Given the description of an element on the screen output the (x, y) to click on. 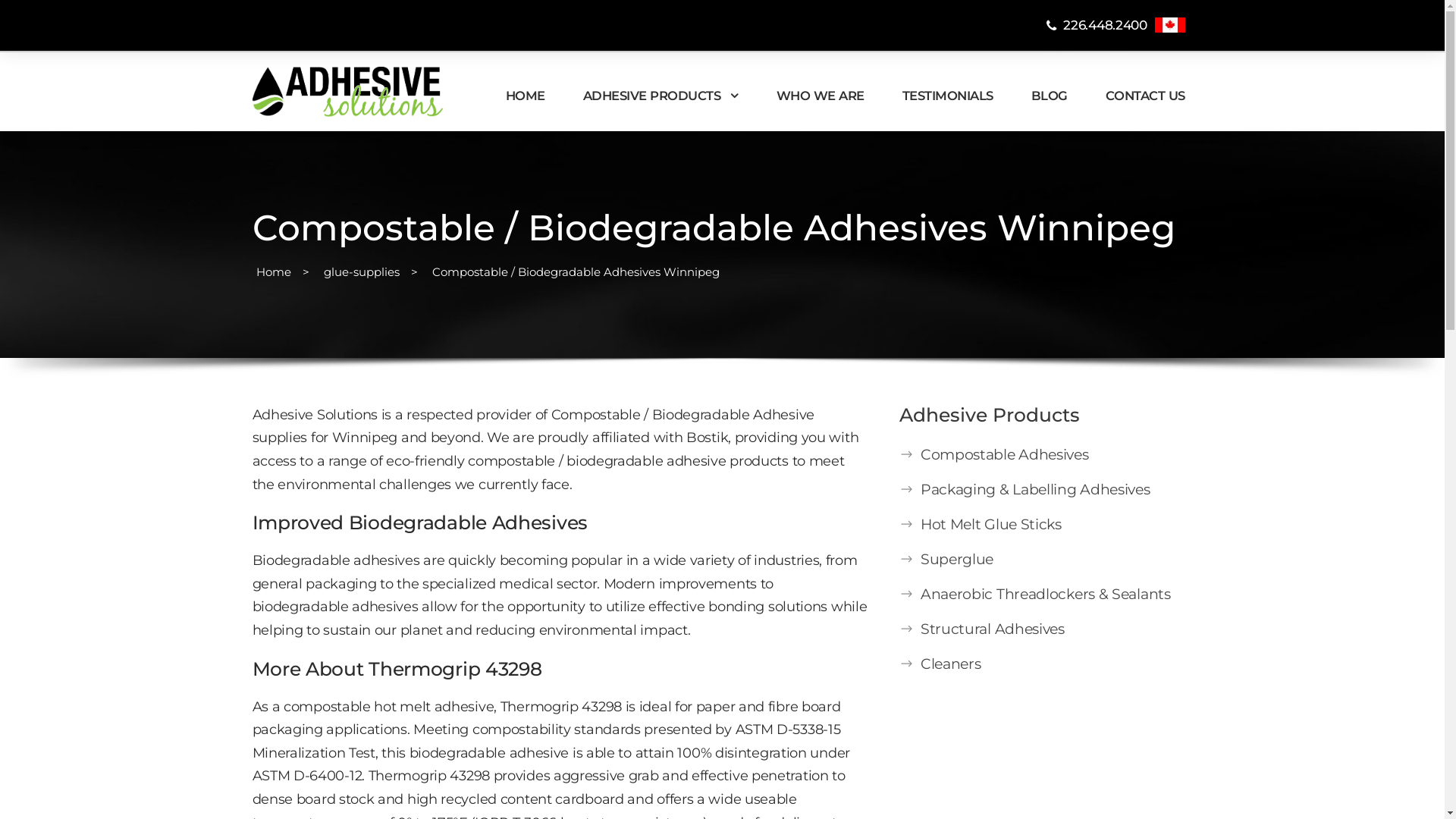
BLOG Element type: text (1049, 107)
Hot Melt Glue Sticks Element type: text (990, 524)
TESTIMONIALS Element type: text (947, 107)
Compostable / Biodegradable Adhesives Winnipeg Element type: text (575, 271)
HOME Element type: text (524, 107)
Anaerobic Threadlockers & Sealants Element type: text (1045, 593)
glue-supplies Element type: text (360, 271)
Compostable Adhesives Element type: text (1004, 454)
Superglue Element type: text (956, 558)
WHO WE ARE Element type: text (820, 107)
Structural Adhesives Element type: text (992, 628)
226.448.2400 Element type: text (1095, 24)
ADHESIVE PRODUCTS Element type: text (659, 107)
Packaging & Labelling Adhesives Element type: text (1035, 489)
Cleaners Element type: text (950, 663)
CONTACT US Element type: text (1145, 107)
Home Element type: text (273, 271)
